Given the description of an element on the screen output the (x, y) to click on. 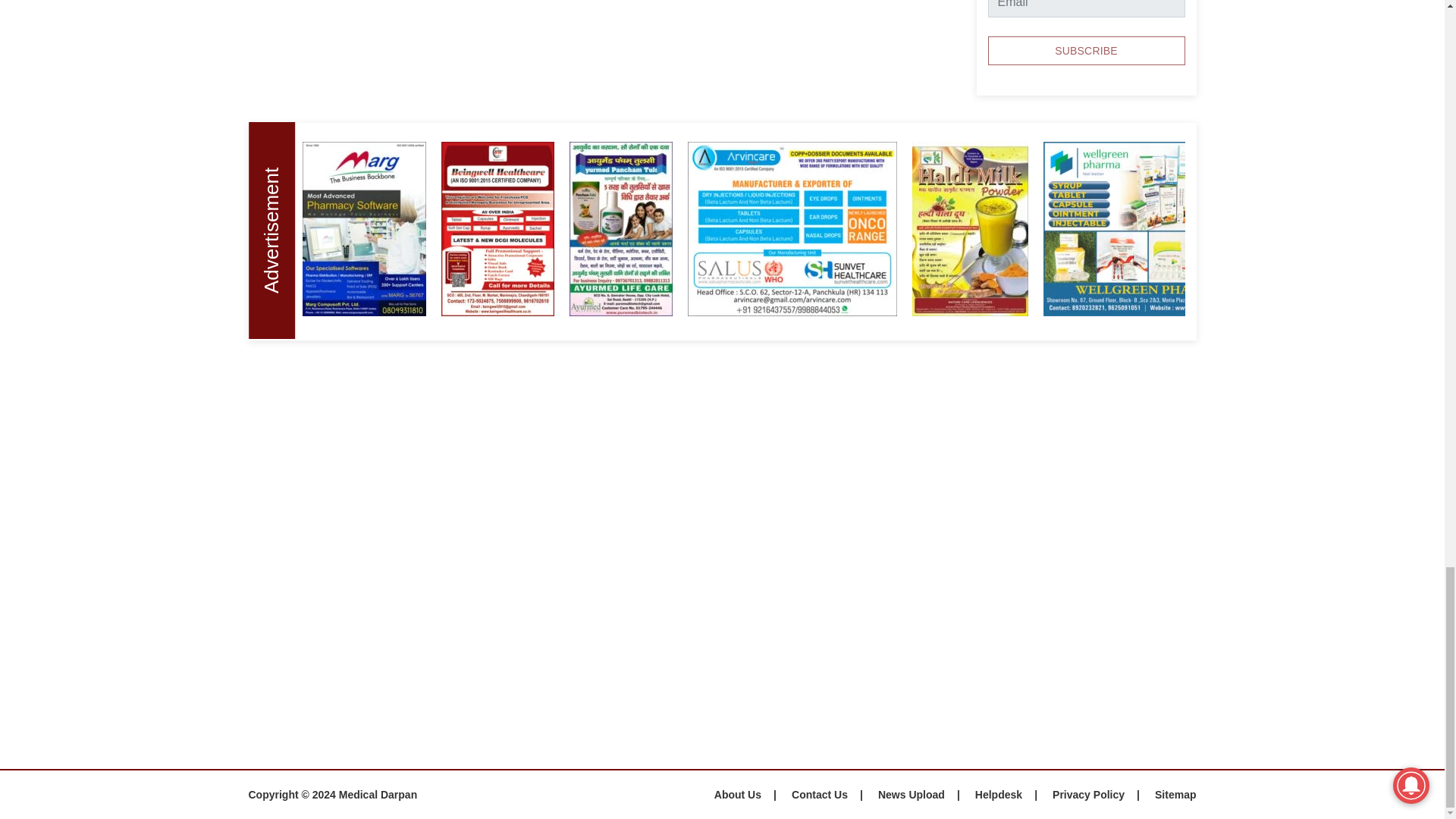
Subscribe (1086, 50)
